Given the description of an element on the screen output the (x, y) to click on. 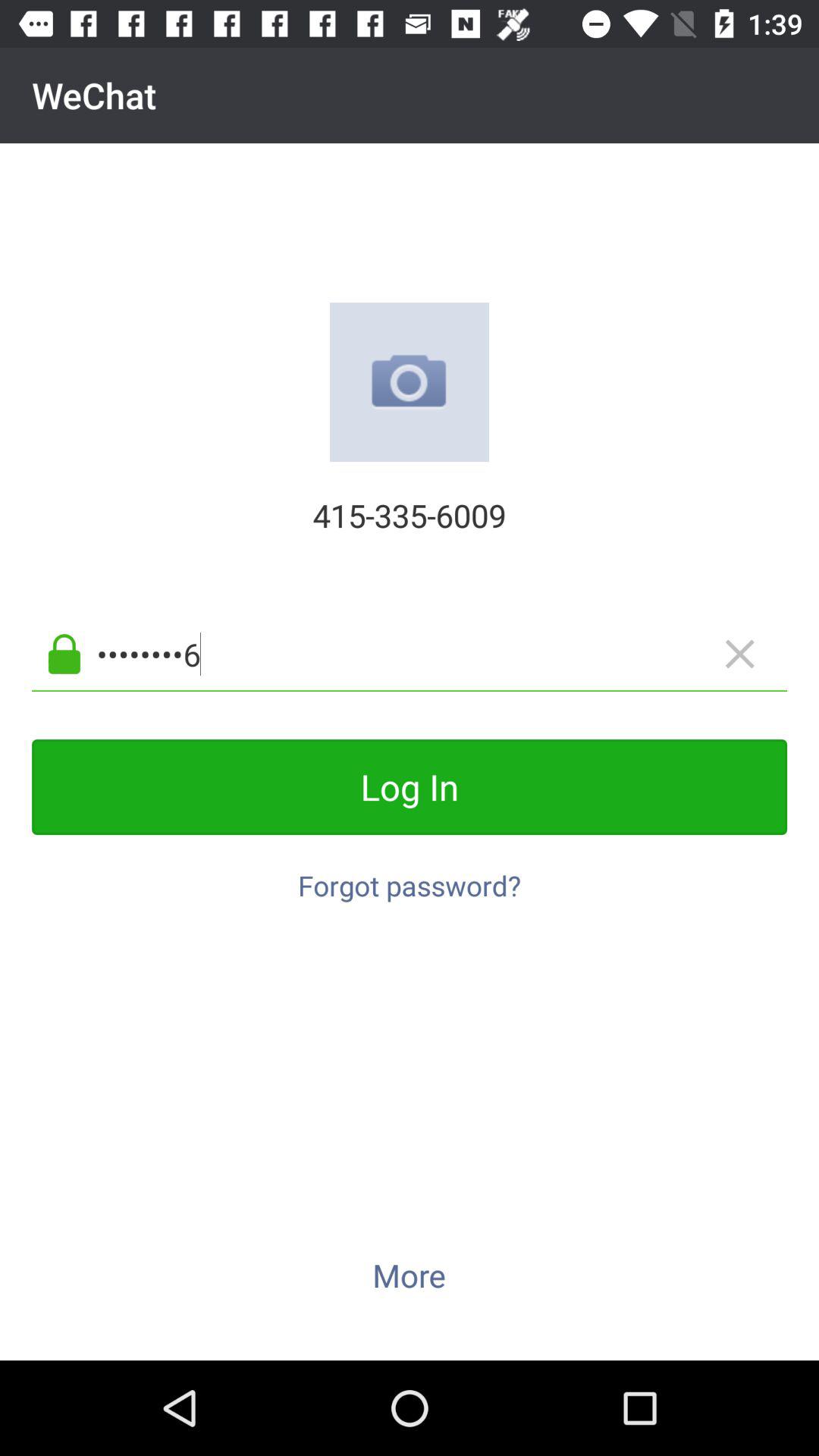
tap the icon below the crowd3116 icon (409, 786)
